Given the description of an element on the screen output the (x, y) to click on. 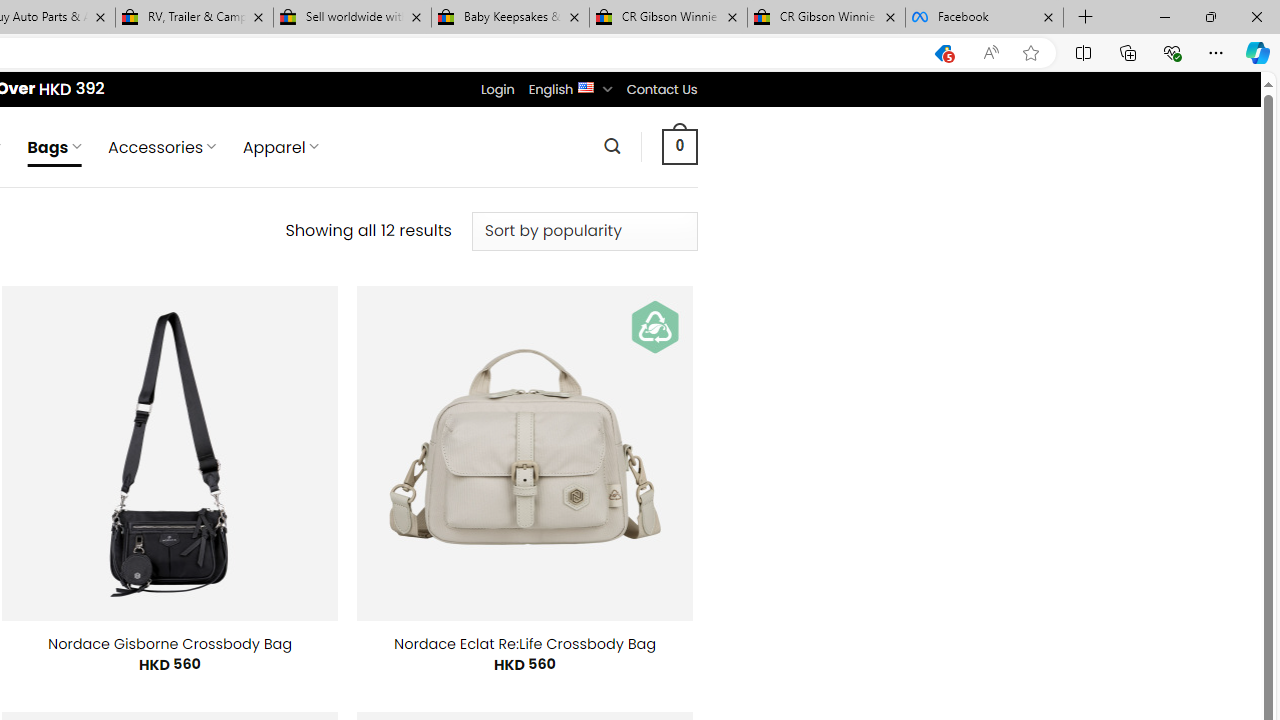
English (586, 86)
RV, Trailer & Camper Steps & Ladders for sale | eBay (194, 17)
Login (497, 89)
Contact Us (661, 89)
 0  (679, 146)
Baby Keepsakes & Announcements for sale | eBay (509, 17)
